Given the description of an element on the screen output the (x, y) to click on. 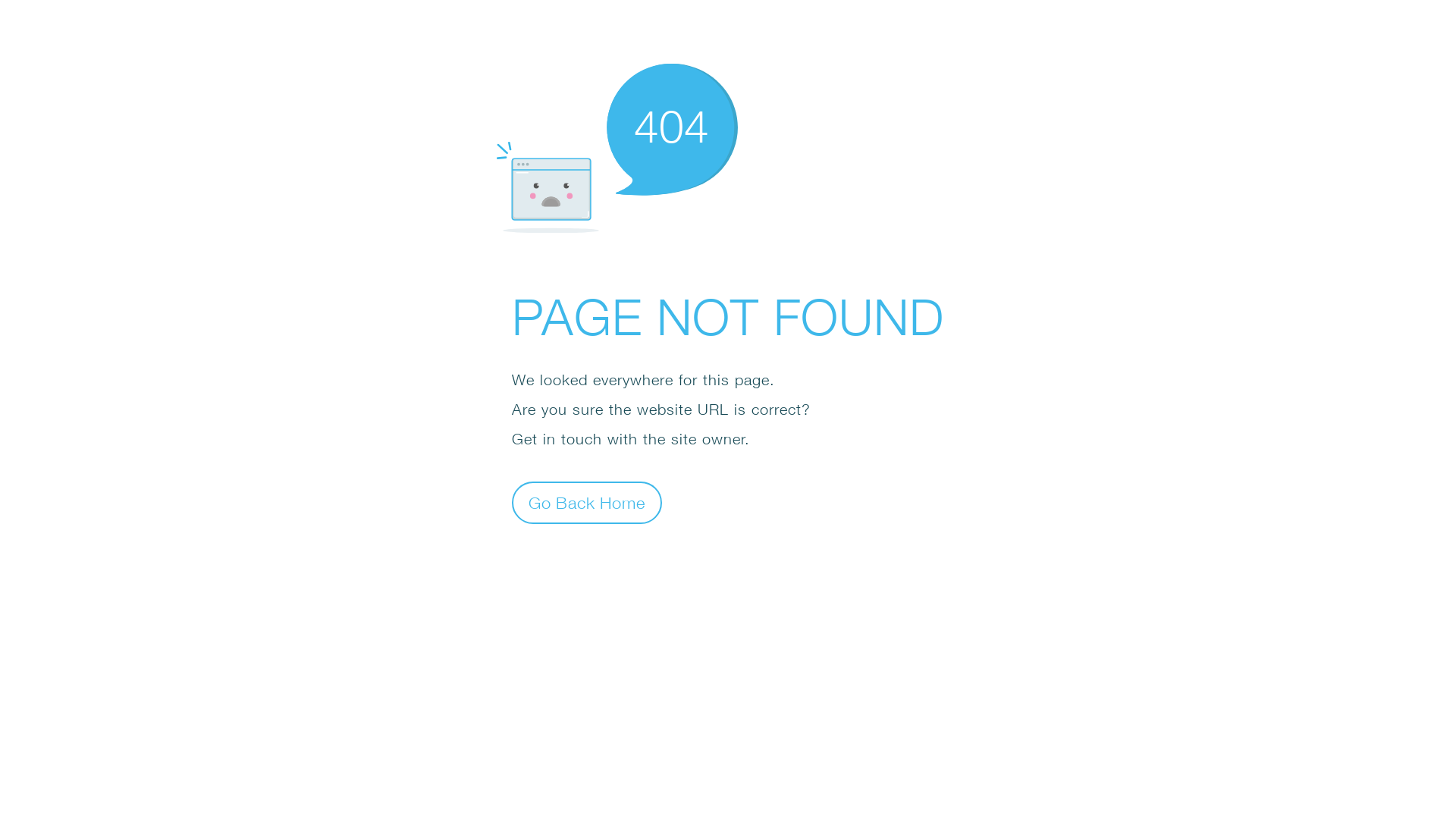
Go Back Home Element type: text (586, 502)
